Given the description of an element on the screen output the (x, y) to click on. 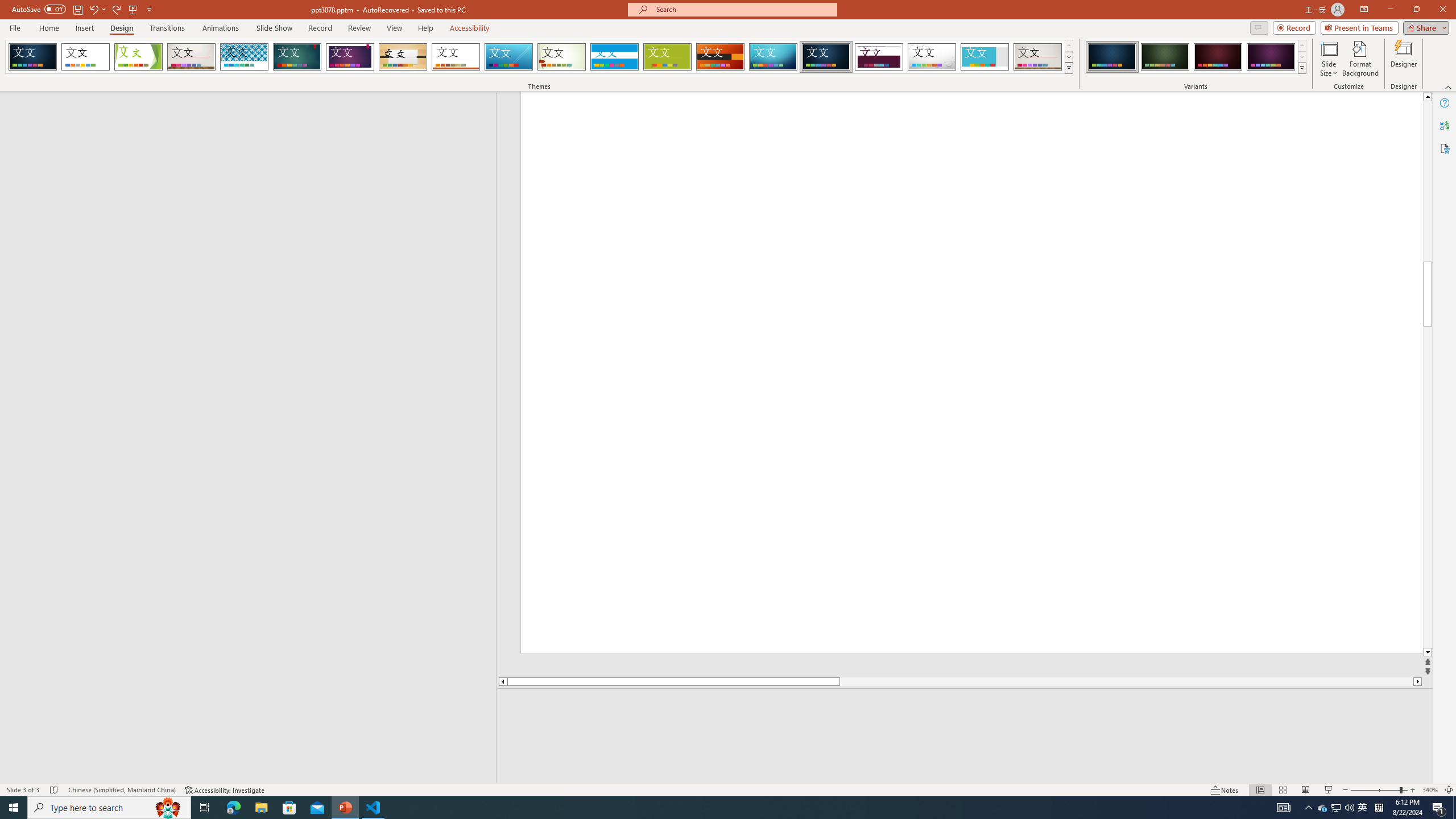
Damask Variant 1 (1112, 56)
Format Background (1360, 58)
An abstract genetic concept (971, 372)
Zoom 340% (1430, 790)
Organic (403, 56)
